Given the description of an element on the screen output the (x, y) to click on. 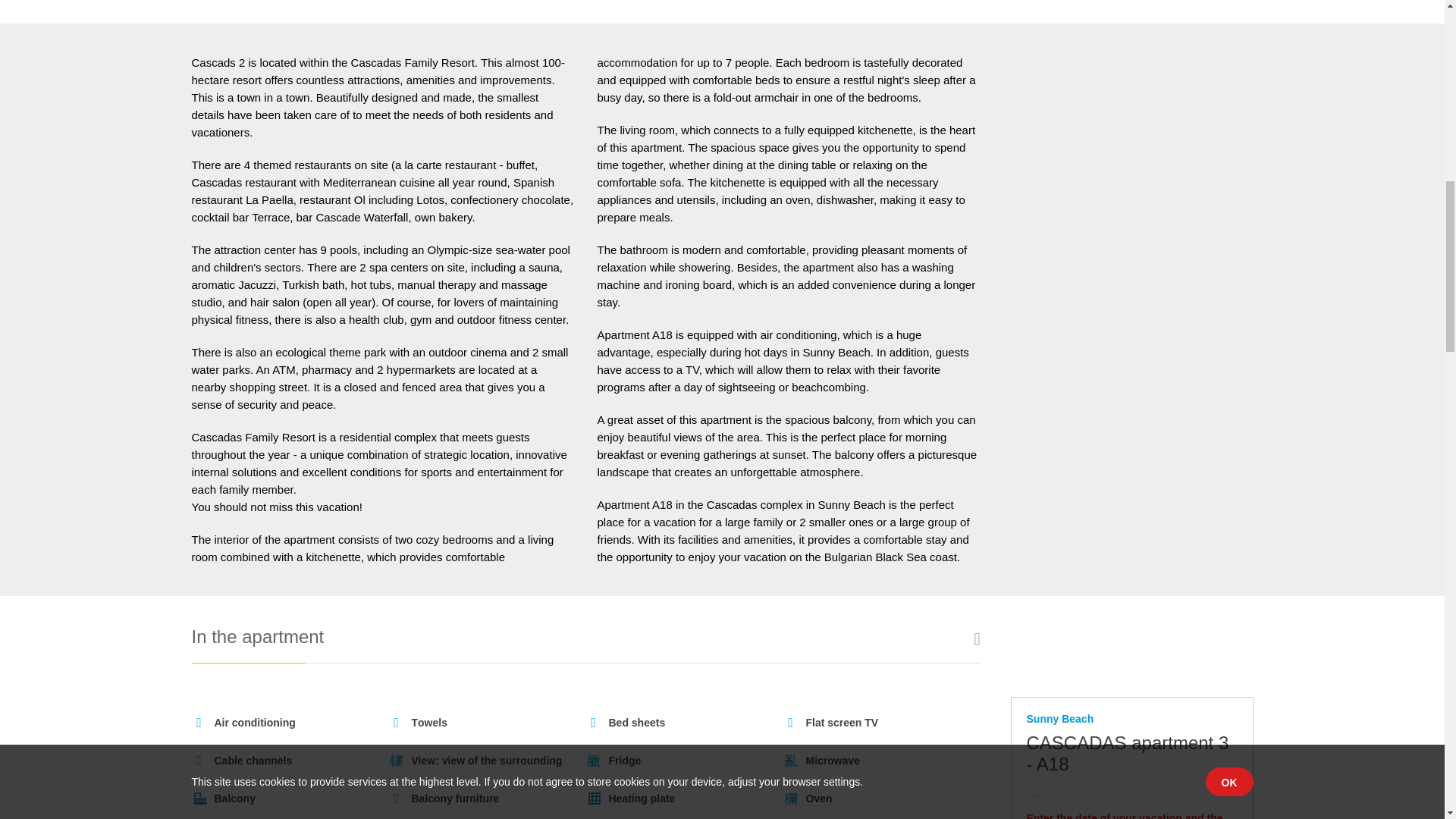
Description of the apartment (1131, 216)
Features of the apartment (1131, 255)
Video presentation (1131, 293)
Complex amenities and offer (1131, 332)
Attractions in the area (1131, 371)
